Given the description of an element on the screen output the (x, y) to click on. 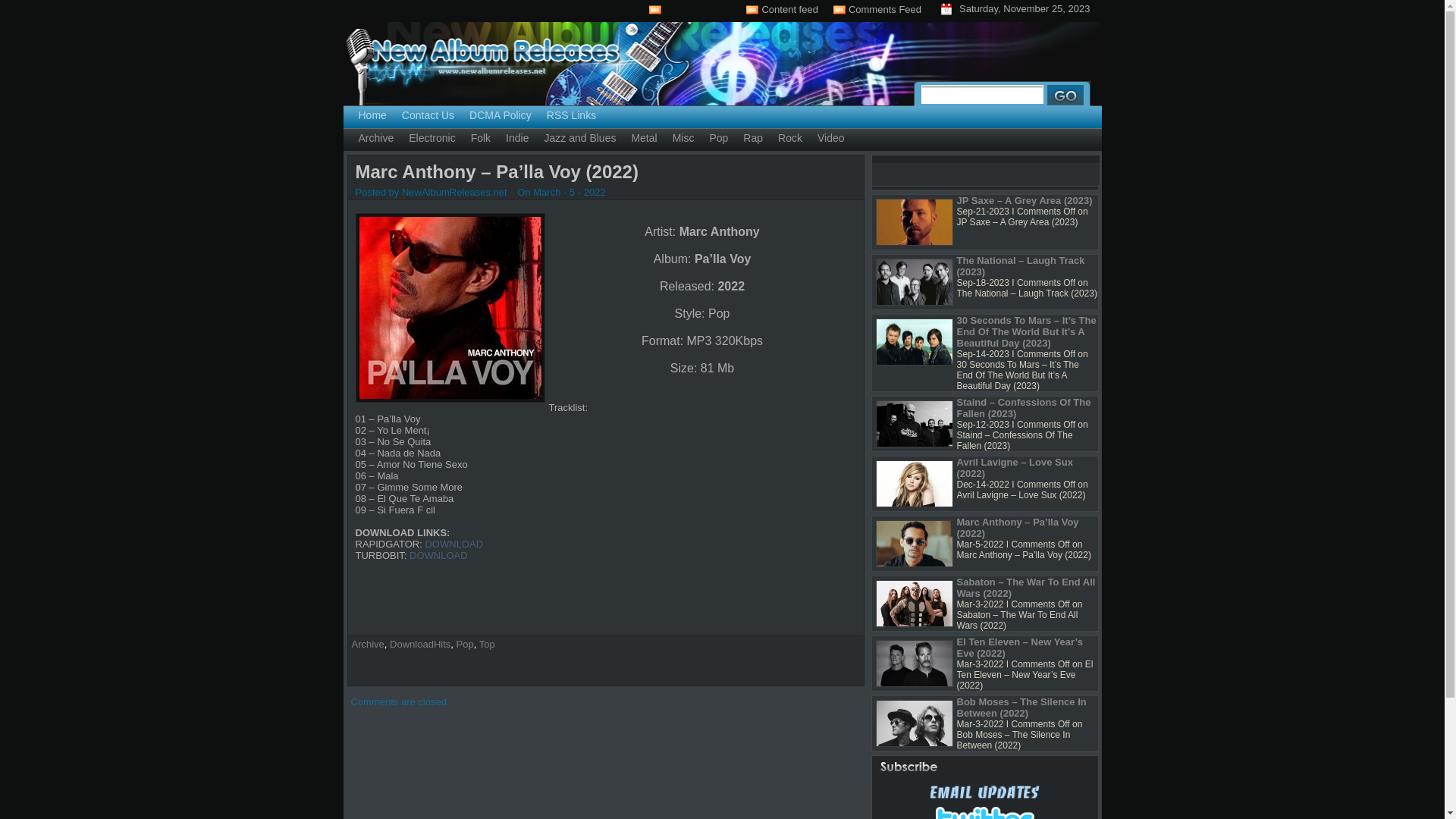
Jazz and Blues Element type: text (579, 138)
Video Element type: text (830, 138)
Electronic Element type: text (431, 138)
Comments Feed Element type: text (877, 9)
Content feed Element type: text (781, 9)
Home Element type: text (371, 115)
Indie Element type: text (517, 138)
RSS Links Element type: text (571, 115)
DOWNLOAD Element type: text (453, 543)
DCMA Policy Element type: text (500, 115)
Metal Element type: text (643, 138)
Pop Element type: text (464, 643)
LiveInternet: number of visitors for today is shown Element type: hover (697, 6)
Misc Element type: text (683, 138)
Archive Element type: text (367, 643)
DOWNLOAD Element type: text (438, 555)
Pop Element type: text (718, 138)
Top Element type: text (487, 643)
Folk Element type: text (480, 138)
Contact Us Element type: text (427, 115)
Rap Element type: text (752, 138)
DownloadHits Element type: text (419, 643)
Rock Element type: text (789, 138)
Archive Element type: text (375, 138)
